Given the description of an element on the screen output the (x, y) to click on. 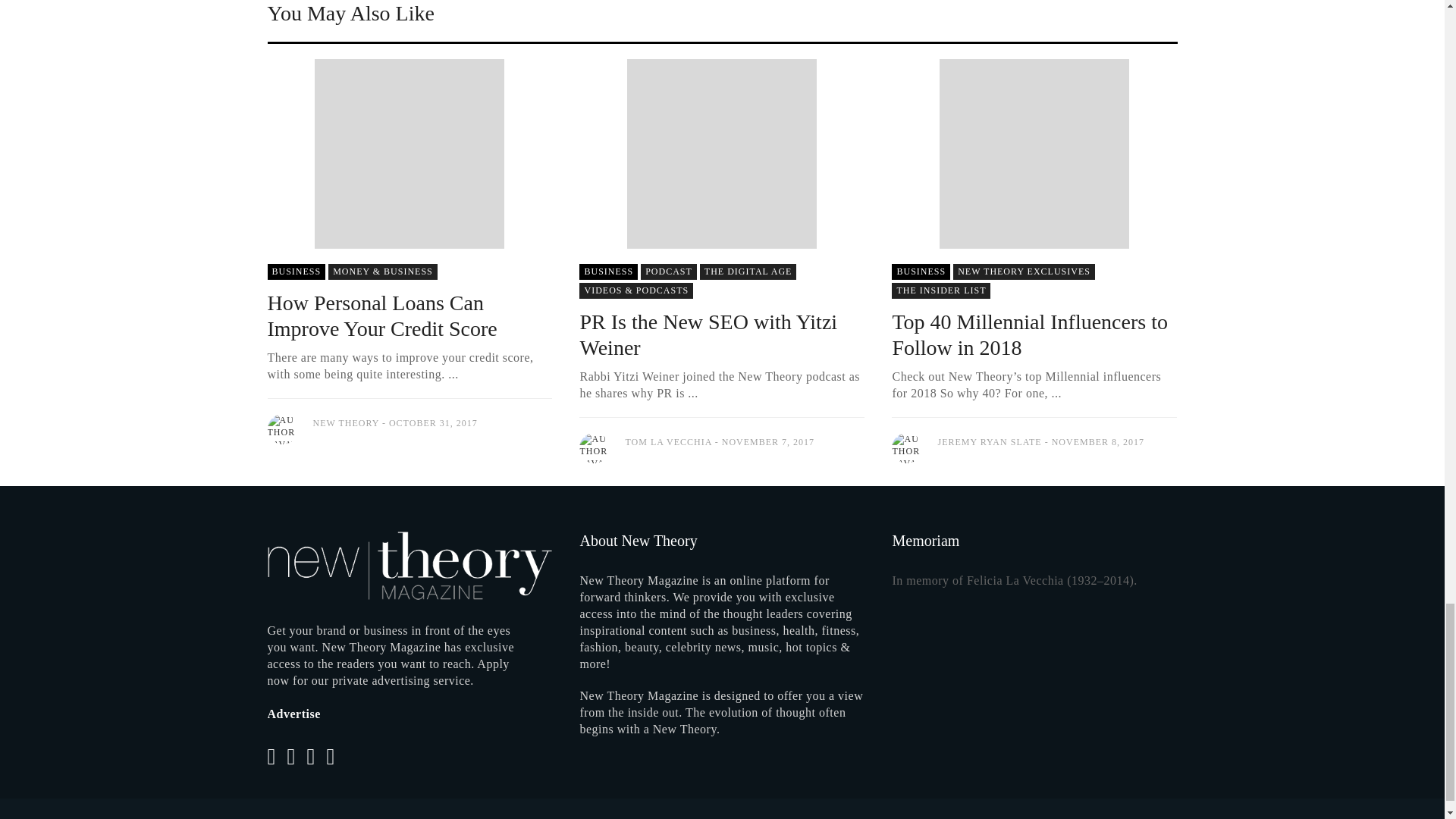
View all posts in 3847 (668, 271)
View all posts in 152 (748, 271)
View all posts in 923 (1023, 271)
View all posts in 922 (636, 290)
View all posts in 3845 (608, 271)
View all posts in 3845 (295, 271)
View all posts in 3845 (920, 271)
View all posts in 144 (383, 271)
